Given the description of an element on the screen output the (x, y) to click on. 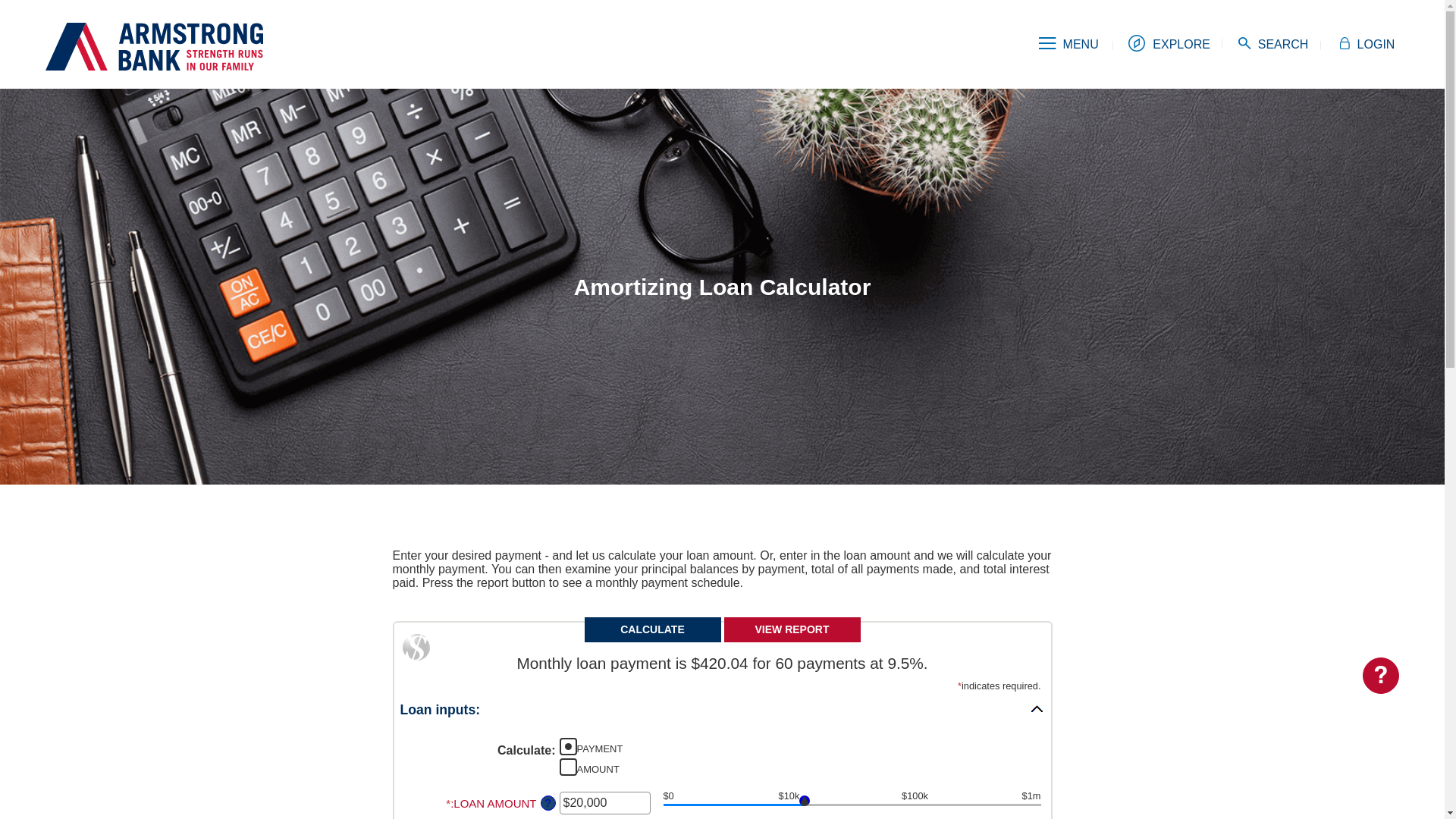
MENU Element type: text (1068, 44)
Armstrong Bank, Muskogee, OK Element type: hover (154, 43)
Calculate: Amount Element type: hover (568, 766)
? Element type: text (547, 802)
Calculate: Payment Element type: hover (568, 746)
Loan amount slider Element type: hover (851, 806)
EXPLORE Element type: text (1169, 44)
SEARCH Element type: text (1273, 44)
LOGIN Element type: text (1367, 44)
